Given the description of an element on the screen output the (x, y) to click on. 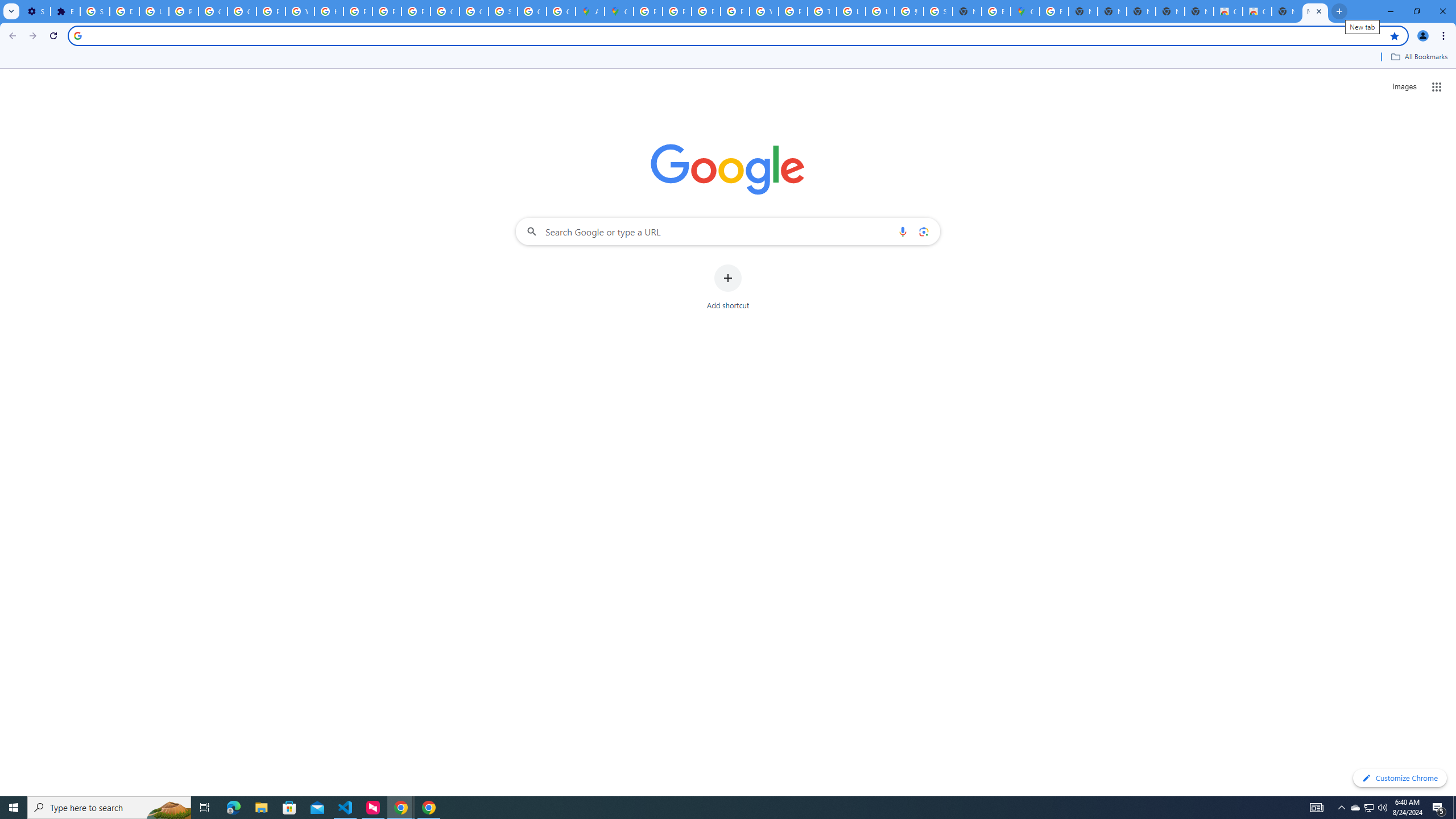
Classic Blue - Chrome Web Store (1256, 11)
Tips & tricks for Chrome - Google Chrome Help (821, 11)
New Tab (967, 11)
Bookmarks (728, 58)
YouTube (300, 11)
Add shortcut (727, 287)
Privacy Help Center - Policies Help (357, 11)
Explore new street-level details - Google Maps Help (996, 11)
